Given the description of an element on the screen output the (x, y) to click on. 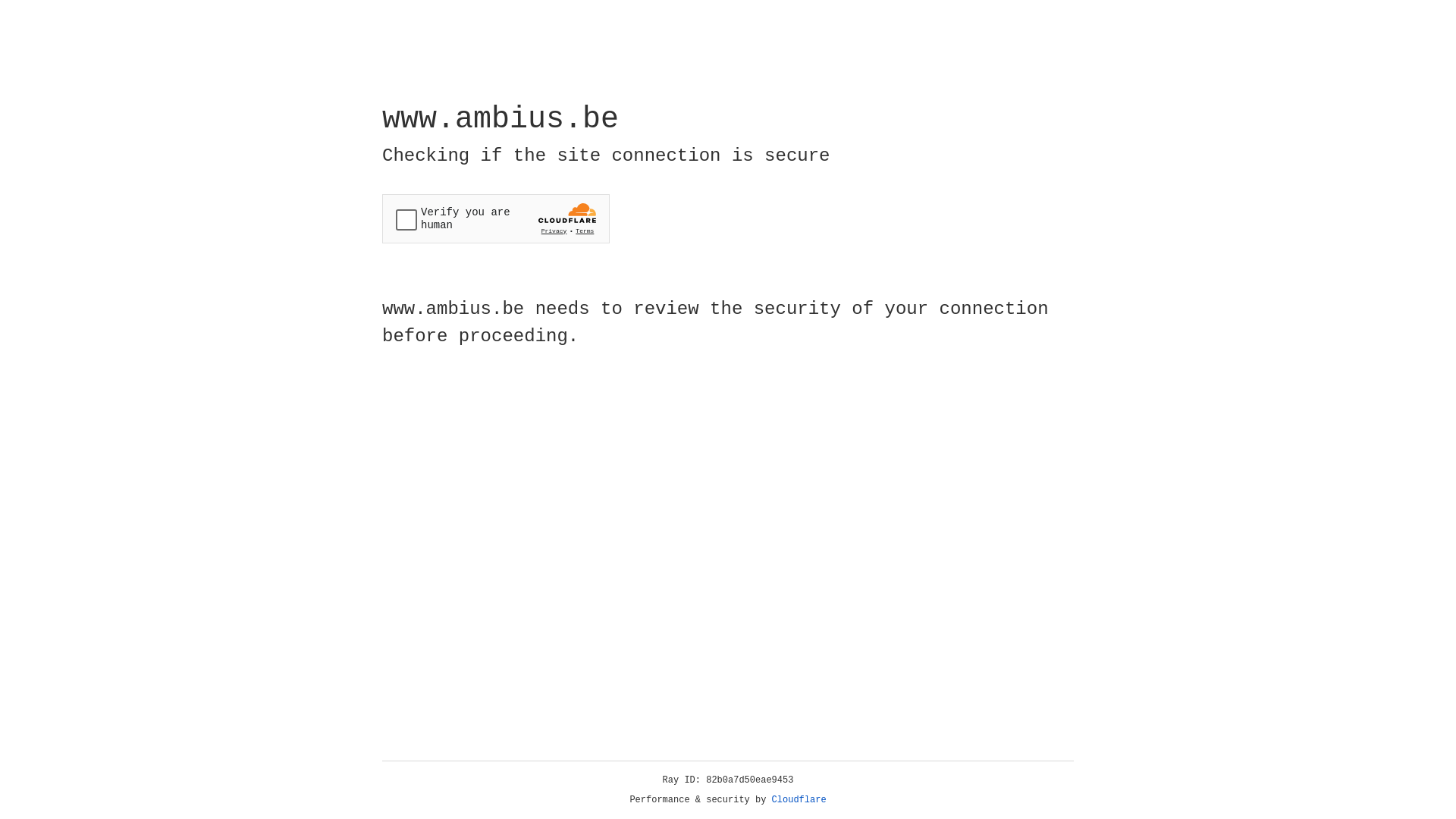
Cloudflare Element type: text (798, 799)
Widget containing a Cloudflare security challenge Element type: hover (495, 218)
